Given the description of an element on the screen output the (x, y) to click on. 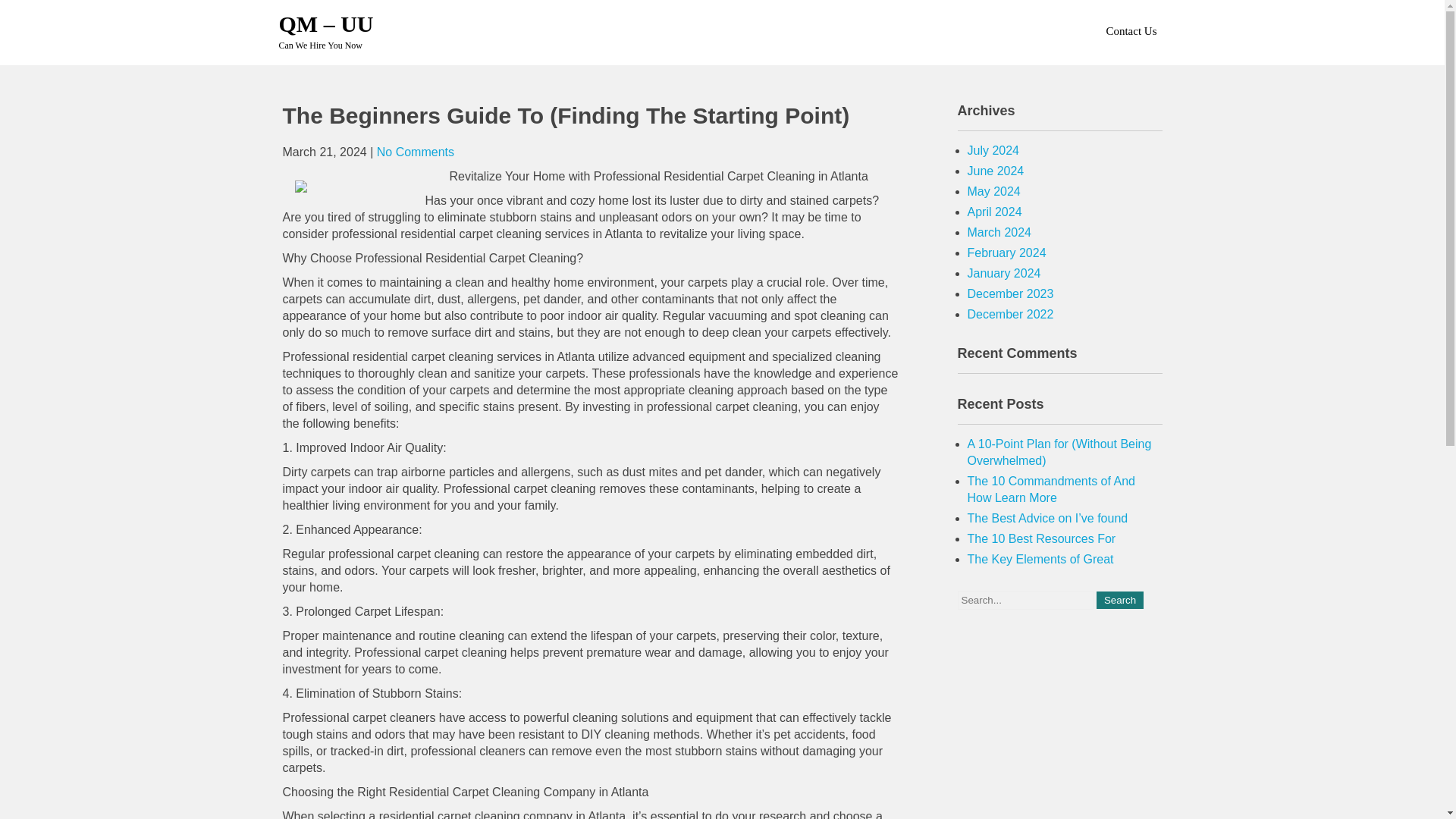
Contact Us (1130, 30)
Search (1119, 600)
June 2024 (996, 170)
The 10 Commandments of And How Learn More (1051, 489)
December 2023 (1011, 293)
March 2024 (1000, 232)
April 2024 (995, 211)
Search (1119, 600)
Search (1119, 600)
May 2024 (994, 191)
December 2022 (1011, 314)
The 10 Best Resources For (1042, 538)
January 2024 (1004, 273)
July 2024 (994, 150)
February 2024 (1007, 252)
